Given the description of an element on the screen output the (x, y) to click on. 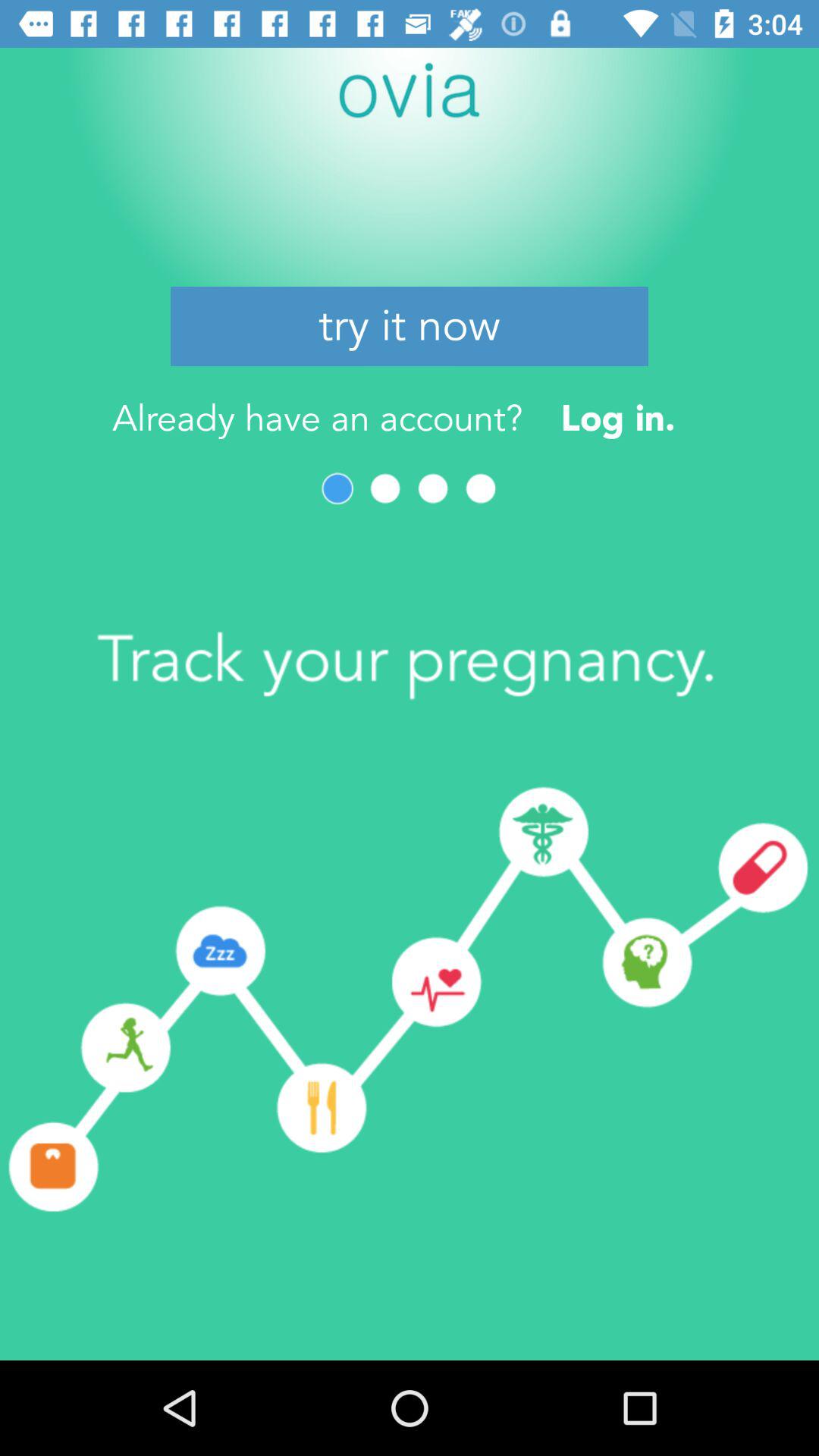
next page (385, 488)
